Given the description of an element on the screen output the (x, y) to click on. 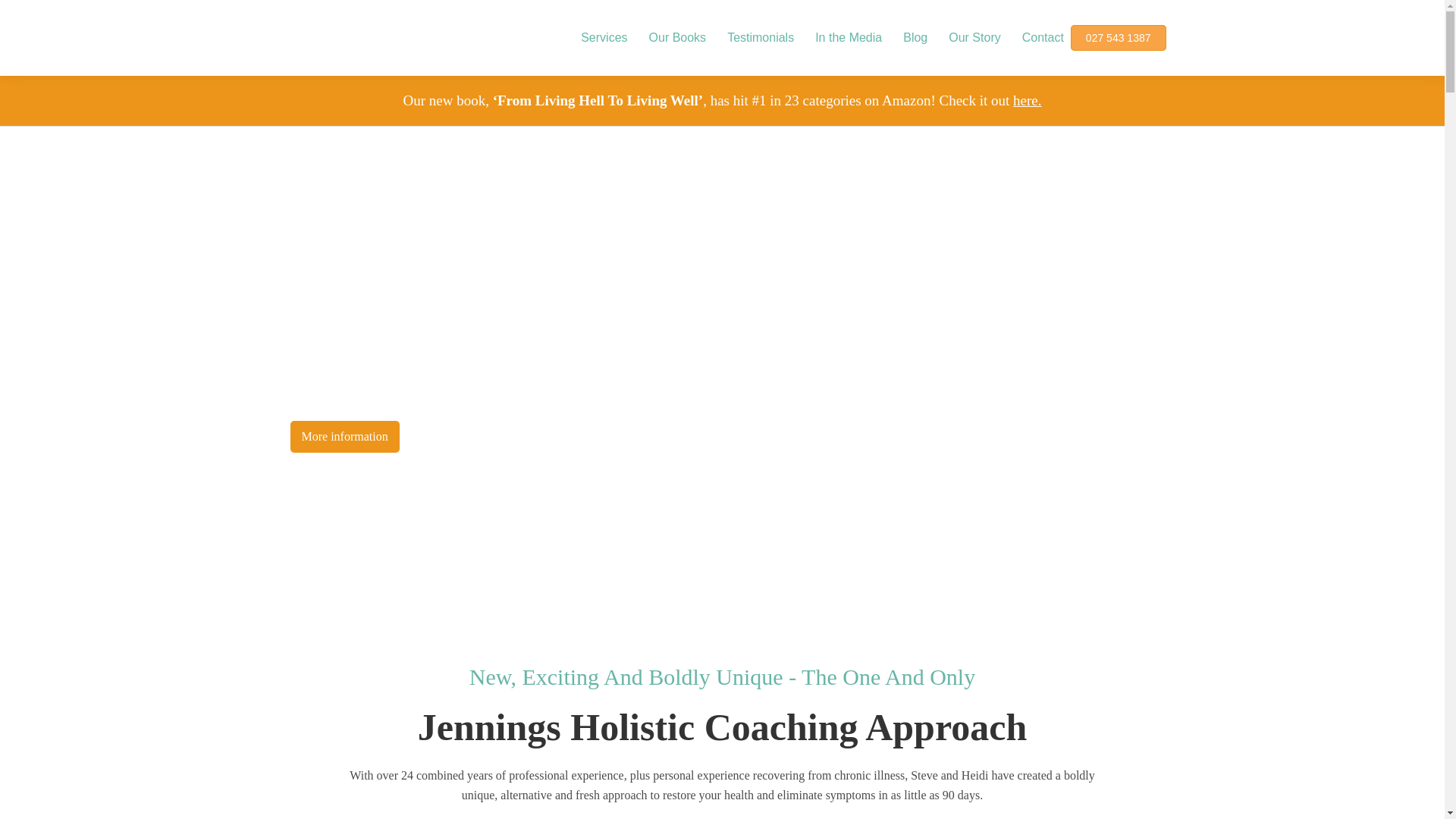
here. (1027, 100)
Testimonials (759, 37)
Our Story (973, 37)
In the Media (848, 37)
Our Books (678, 37)
027 543 1387 (1118, 37)
Services (604, 37)
Contact (1043, 37)
More information (343, 436)
